Given the description of an element on the screen output the (x, y) to click on. 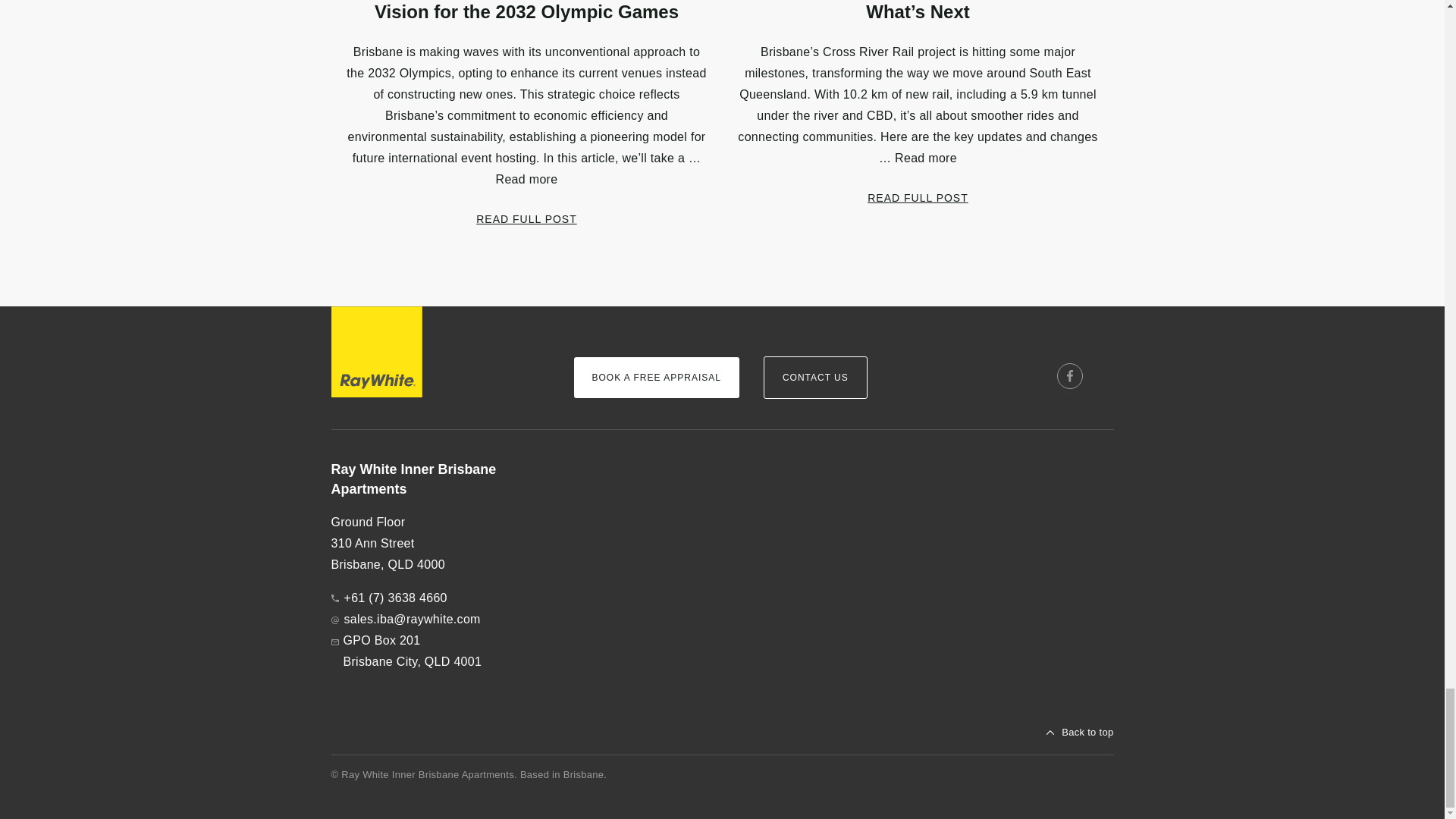
Facebook (1070, 376)
Back to top (1079, 732)
Ray White (376, 351)
Ray White Inner Brisbane Apartments (439, 479)
CONTACT US (814, 377)
BOOK A FREE APPRAISAL (655, 377)
READ FULL POST (526, 218)
READ FULL POST (917, 196)
